Given the description of an element on the screen output the (x, y) to click on. 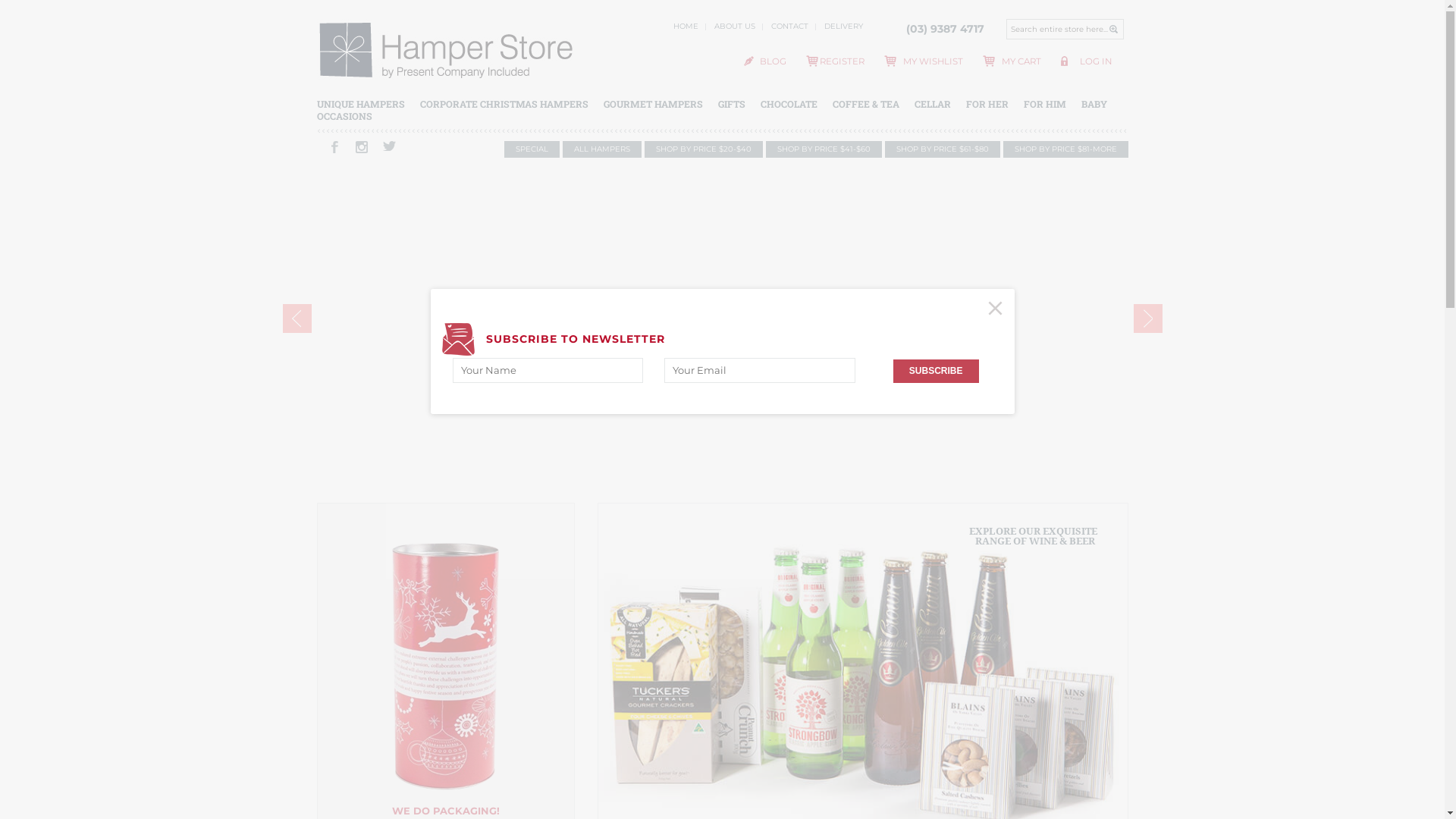
SHOP BY PRICE $20-$40 Element type: text (703, 149)
(03) 9387 4717 Element type: text (944, 28)
GOURMET HAMPERS Element type: text (652, 103)
CONTACT Element type: text (788, 26)
SHOP BY PRICE $61-$80 Element type: text (941, 149)
Sign up for our newsletter Element type: hover (759, 369)
MY CART Element type: text (1020, 61)
HOME Element type: text (685, 26)
Hamper Store Element type: hover (445, 52)
MY WISHLIST Element type: text (932, 61)
CHOCOLATE Element type: text (787, 103)
LOG IN Element type: text (1095, 61)
WE DO PACKAGING! Element type: text (444, 810)
FOR HER Element type: text (987, 103)
DELIVERY Element type: text (842, 26)
GIFTS Element type: text (730, 103)
CELLAR Element type: text (932, 103)
COFFEE & TEA Element type: text (865, 103)
OCCASIONS Element type: text (344, 115)
SPECIAL Element type: text (530, 149)
CORPORATE CHRISTMAS HAMPERS Element type: text (504, 103)
REGISTER Element type: text (841, 61)
ALL HAMPERS Element type: text (601, 149)
SHOP BY PRICE $81-MORE Element type: text (1064, 149)
FOR HIM Element type: text (1044, 103)
SHOP BY PRICE $41-$60 Element type: text (823, 149)
SUBSCRIBE Element type: text (936, 370)
BLOG Element type: text (772, 61)
ABOUT US Element type: text (734, 26)
BABY Element type: text (1094, 103)
UNIQUE HAMPERS Element type: text (360, 103)
